Given the description of an element on the screen output the (x, y) to click on. 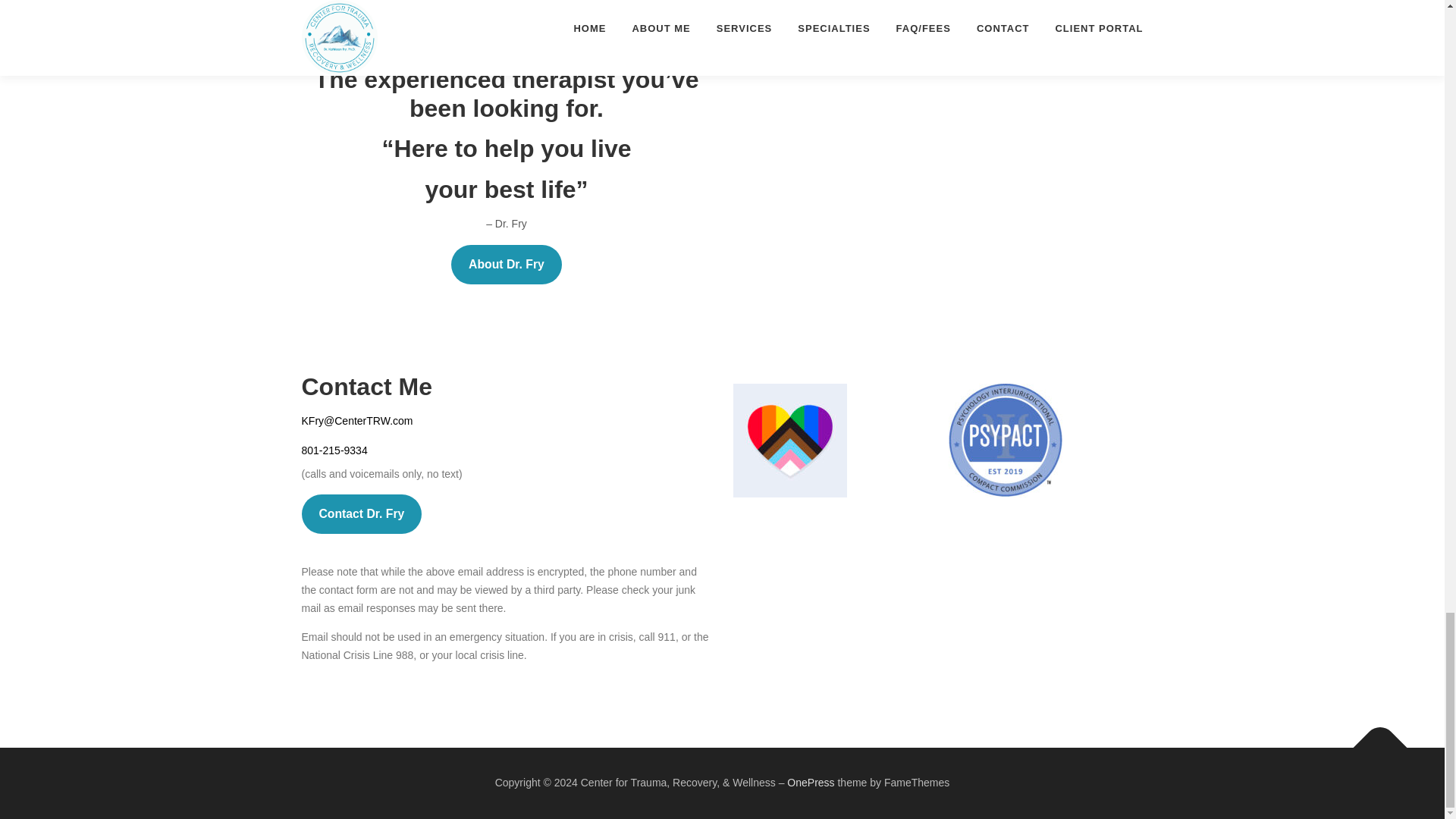
About Dr. Fry (506, 264)
OnePress (810, 782)
Back To Top (1372, 740)
801-215-9334 (334, 450)
Contact Dr. Fry (361, 513)
